Given the description of an element on the screen output the (x, y) to click on. 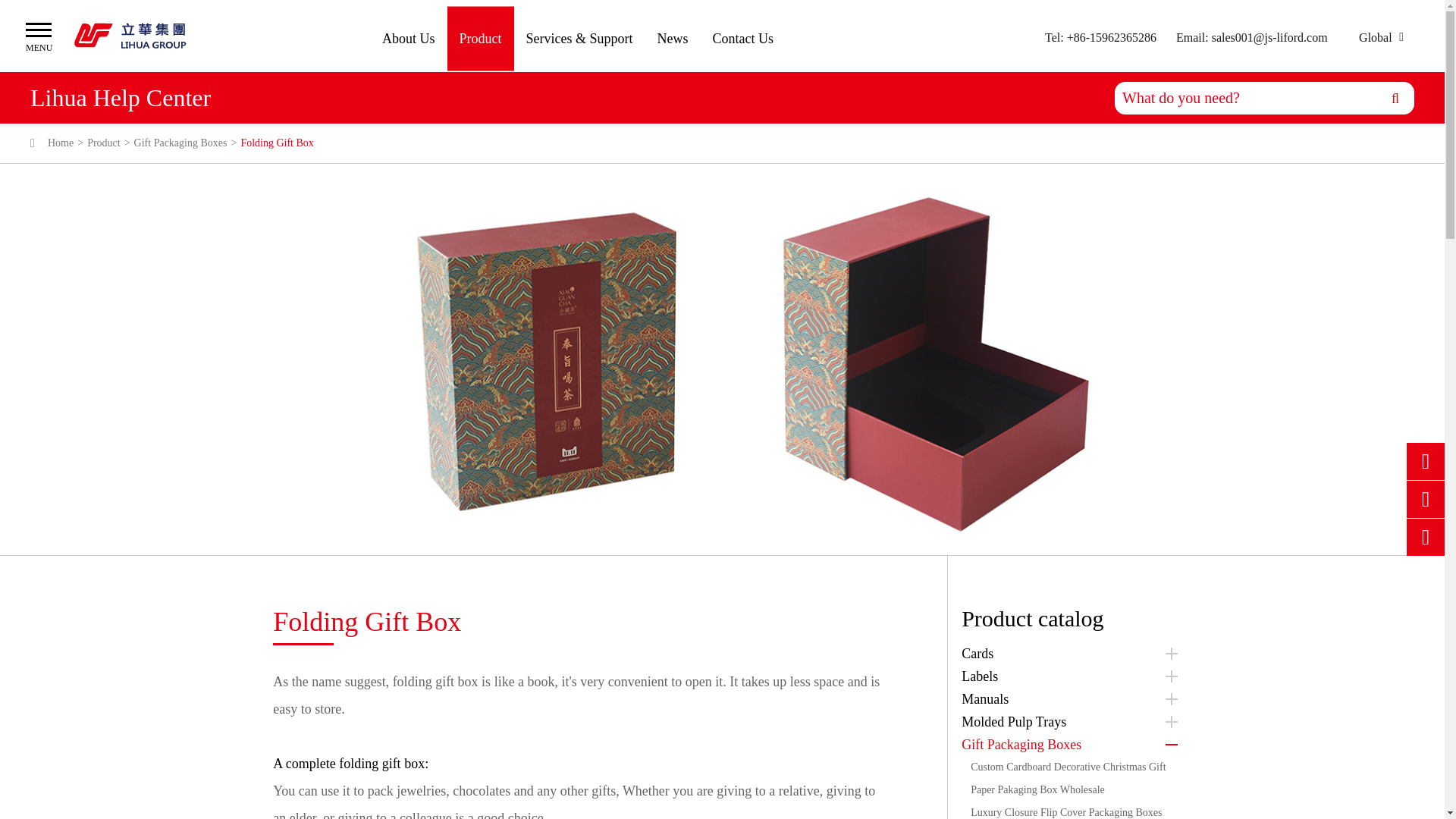
Contact Us (743, 37)
Product (479, 37)
About Us (407, 37)
Global (1374, 37)
